Given the description of an element on the screen output the (x, y) to click on. 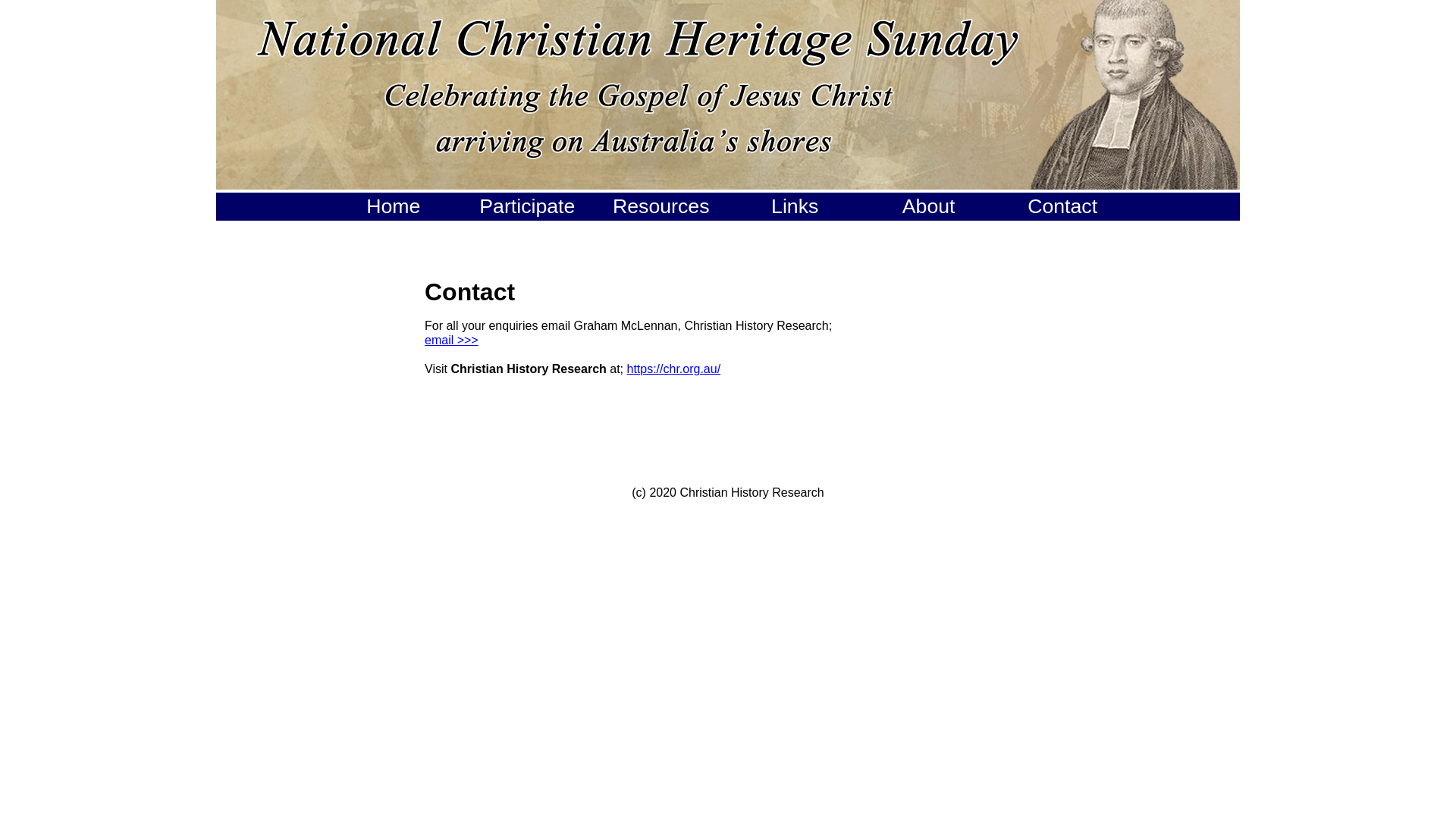
Resources Element type: text (661, 206)
email >>> Element type: text (451, 339)
About Element type: text (928, 206)
https://chr.org.au/ Element type: text (673, 368)
Home Element type: text (393, 206)
Participate Element type: text (526, 206)
Links Element type: text (794, 206)
Contact Element type: text (1062, 206)
